Given the description of an element on the screen output the (x, y) to click on. 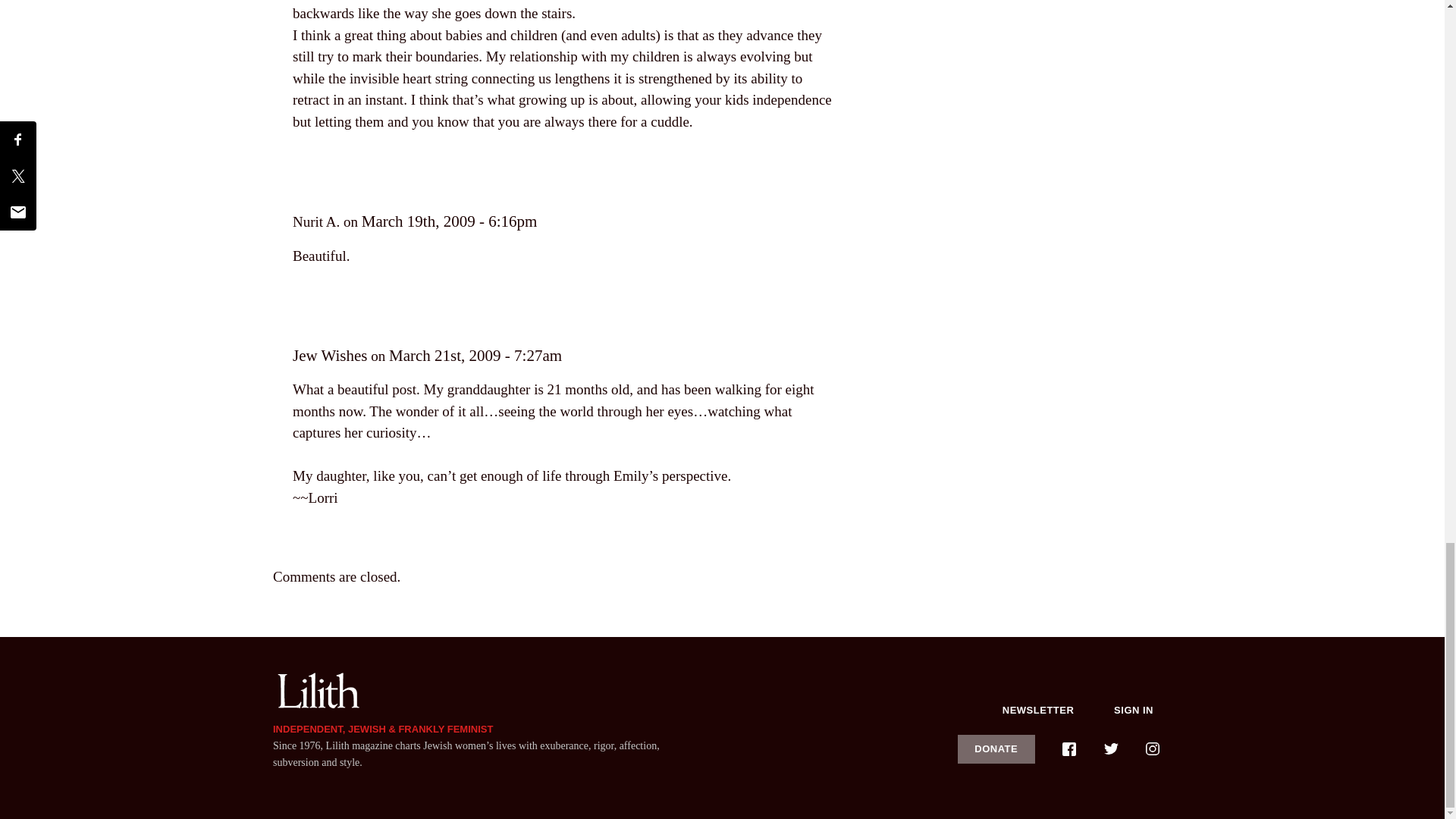
March 19th, 2009 - 6:16pm (449, 221)
Jew Wishes (330, 355)
NEWSLETTER (1038, 710)
March 21st, 2009 - 7:27am (475, 355)
